Given the description of an element on the screen output the (x, y) to click on. 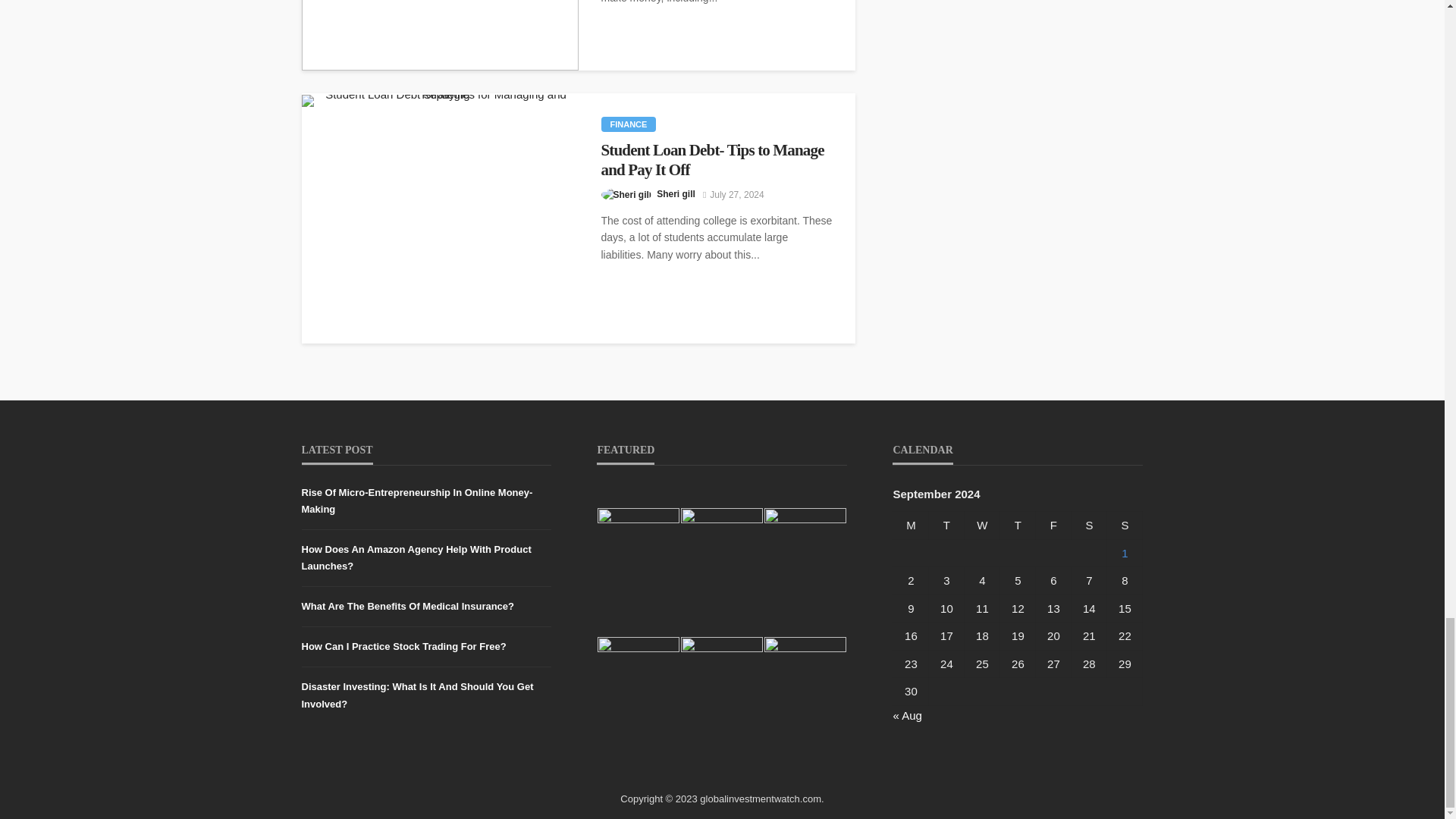
Student Loan Debt- Tips to Manage and Pay It Off (439, 101)
Disaster Investing: What Is It and Should You Get Involved? (439, 35)
Finance (627, 124)
